Given the description of an element on the screen output the (x, y) to click on. 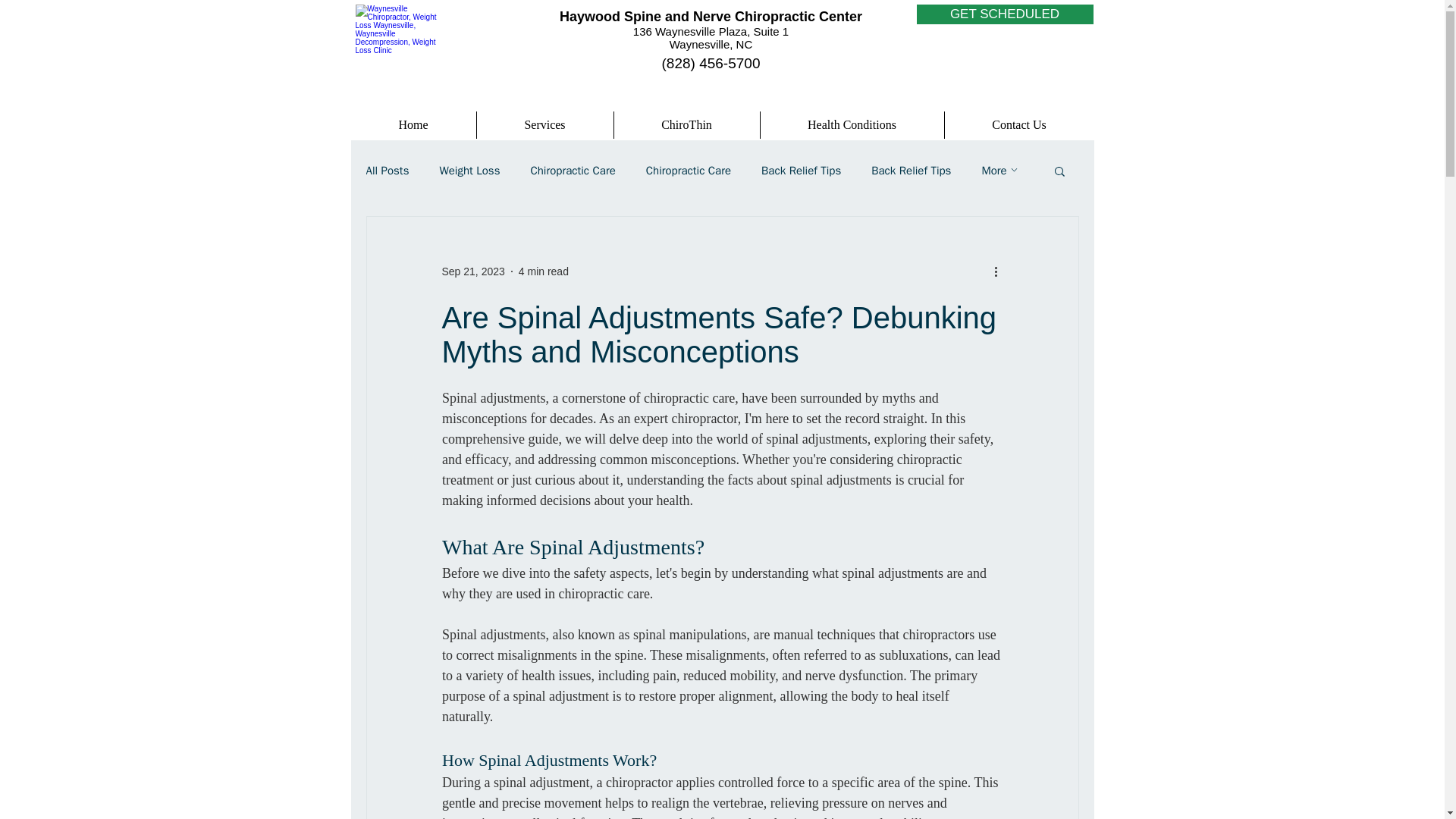
Sep 21, 2023 (472, 271)
4 min read (543, 271)
ChiroThin (687, 124)
GET SCHEDULED (1004, 14)
Chiropractic Care (571, 170)
Back Relief Tips (801, 170)
Back Relief Tips (910, 170)
Chiropractic Care (688, 170)
Home (413, 124)
All Posts (387, 170)
